Given the description of an element on the screen output the (x, y) to click on. 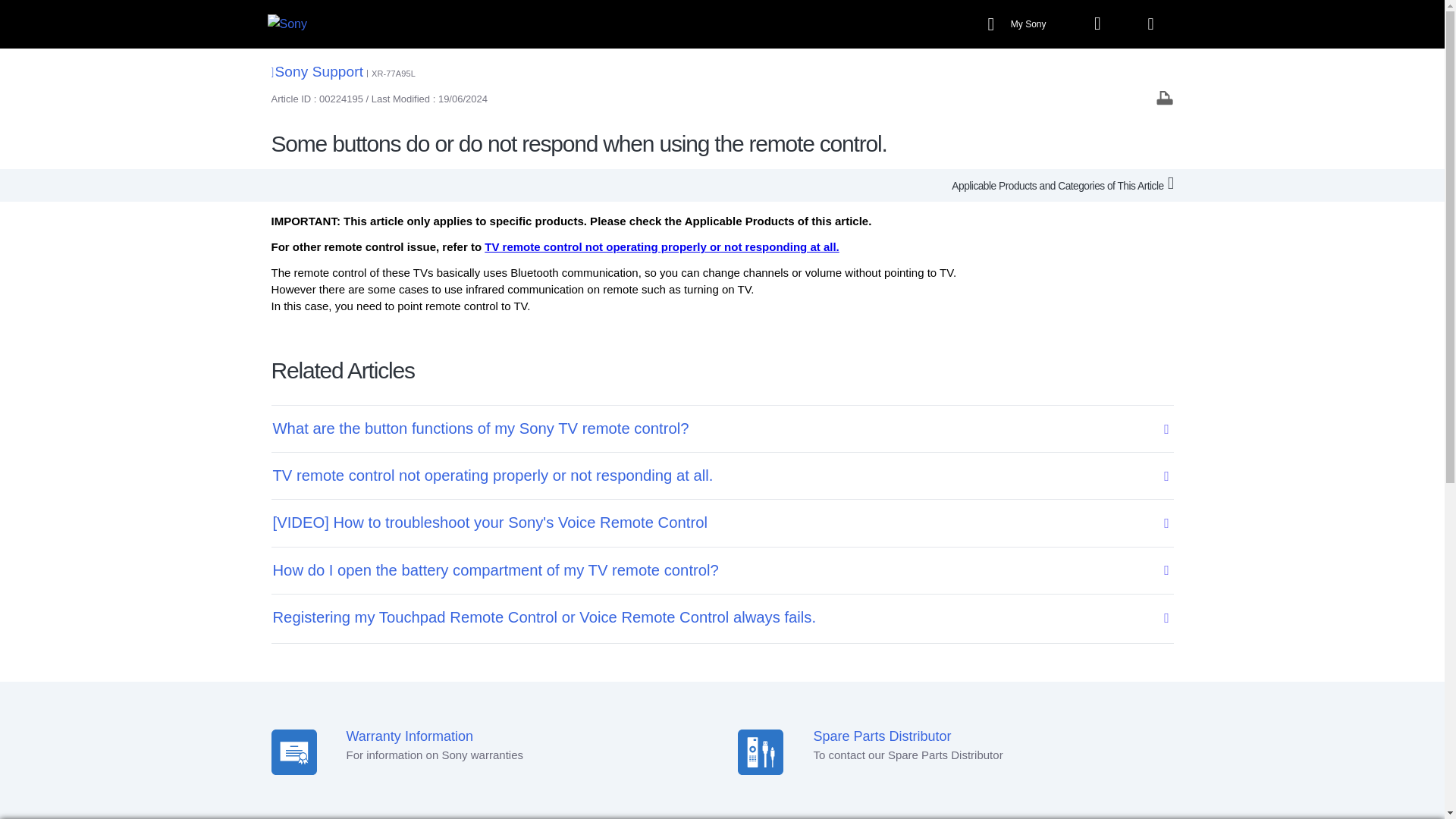
Print (1164, 97)
My Sony (1018, 24)
